Given the description of an element on the screen output the (x, y) to click on. 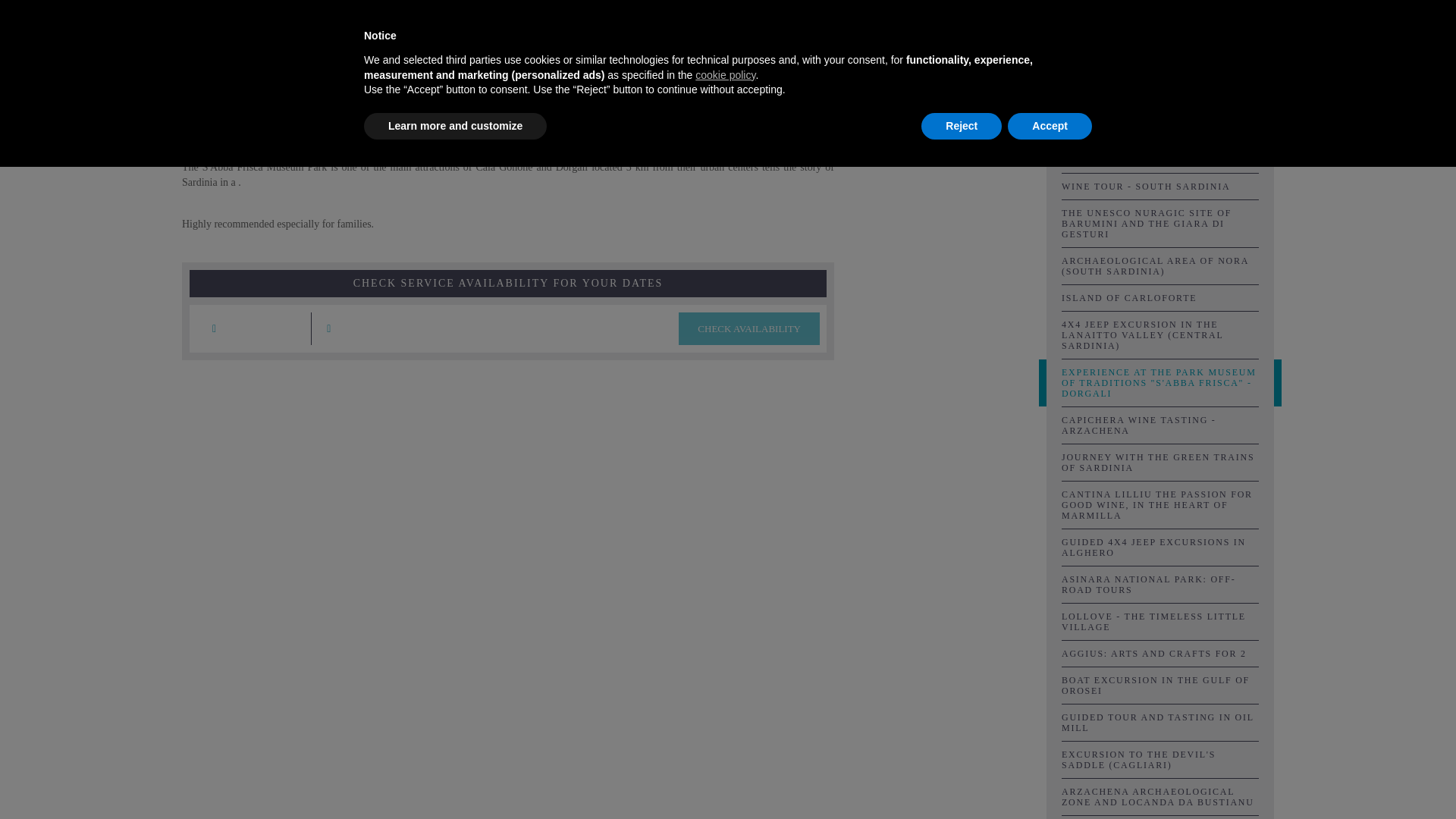
Check availability (748, 328)
